Given the description of an element on the screen output the (x, y) to click on. 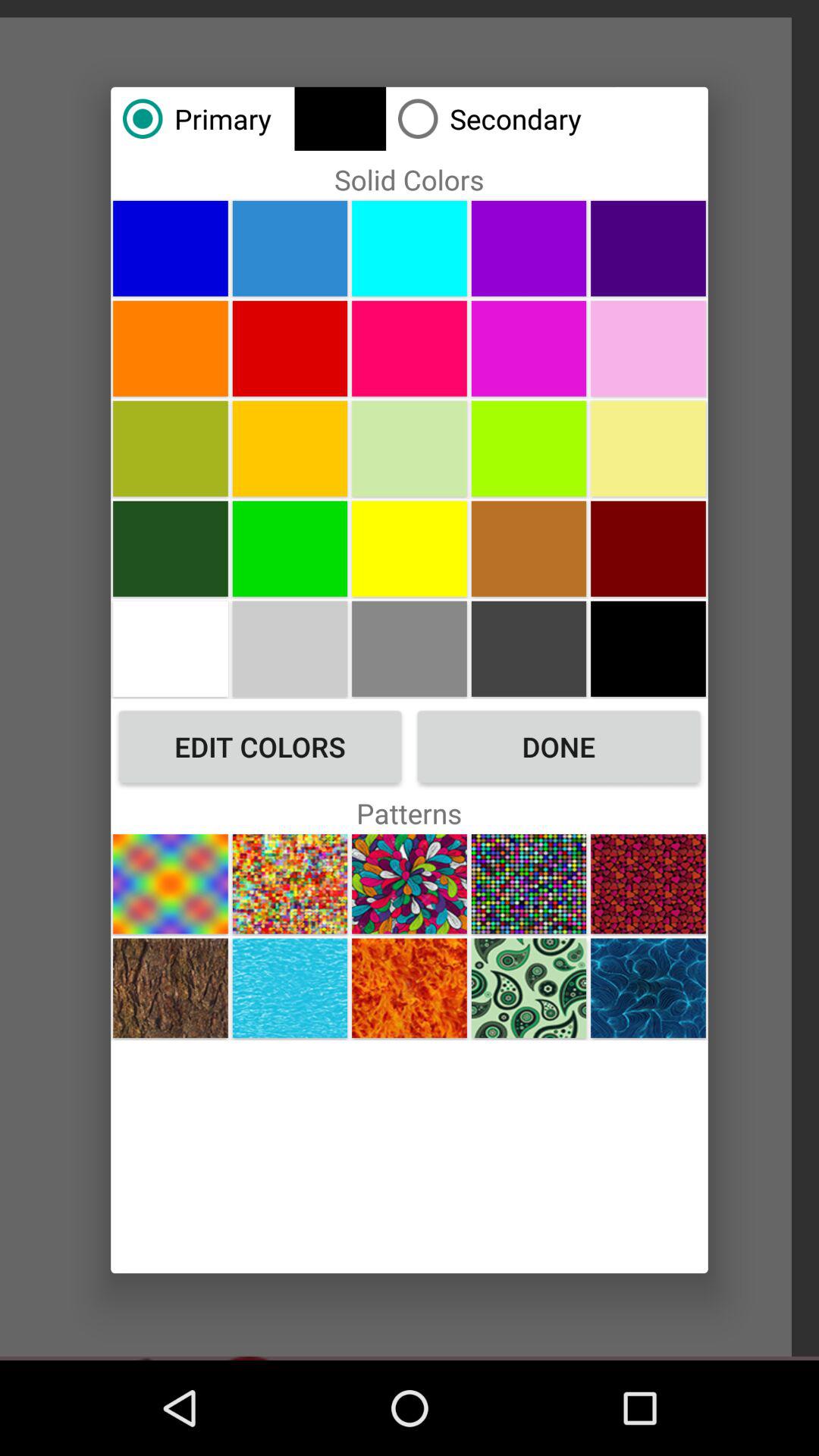
select color (170, 548)
